Given the description of an element on the screen output the (x, y) to click on. 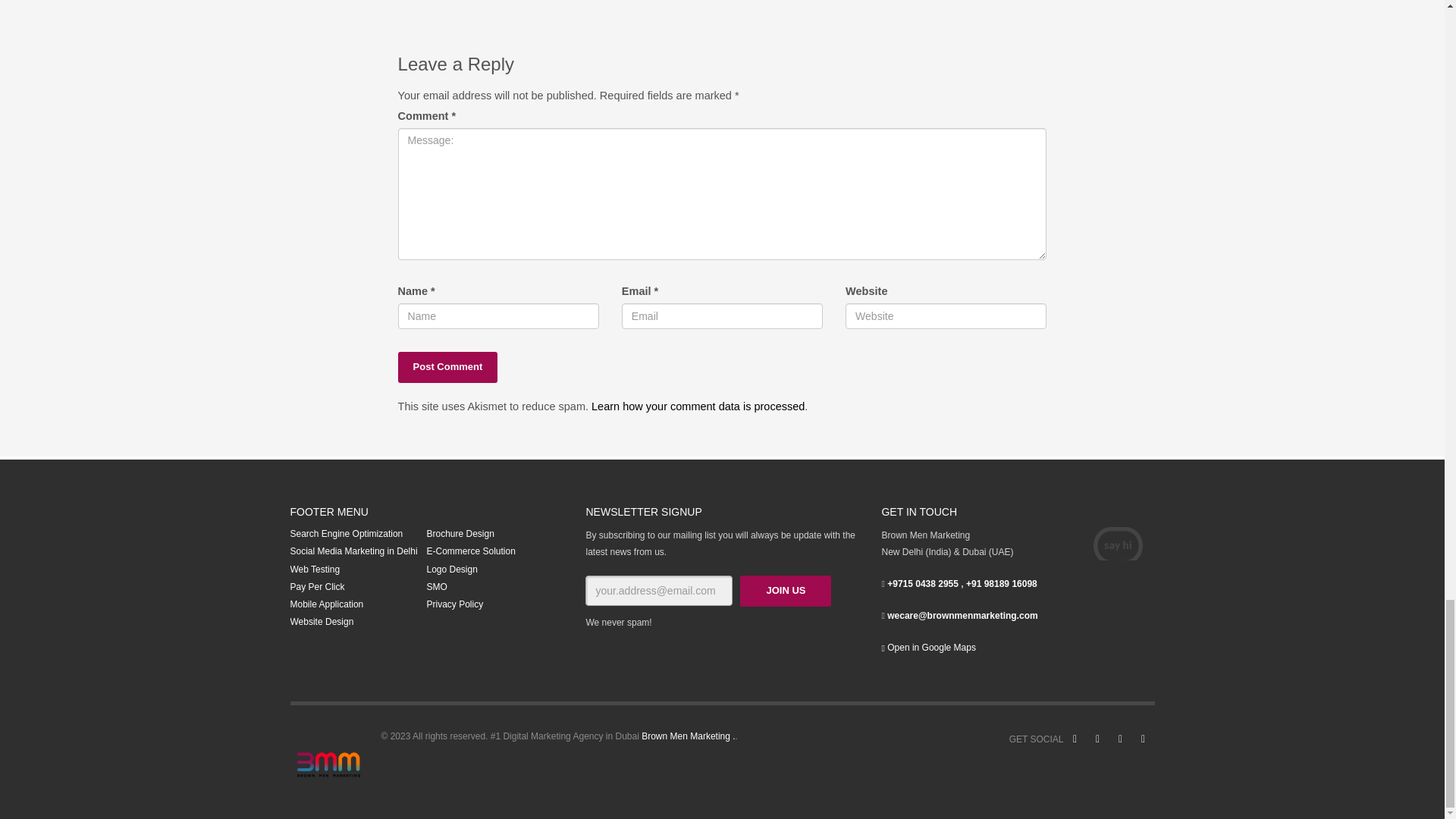
Like us on Facebook! (1074, 739)
Check Our Linkedin (1142, 739)
Post Comment (447, 367)
Follow our tweets! (1097, 739)
JOIN US (785, 590)
Instagram (1119, 739)
